Given the description of an element on the screen output the (x, y) to click on. 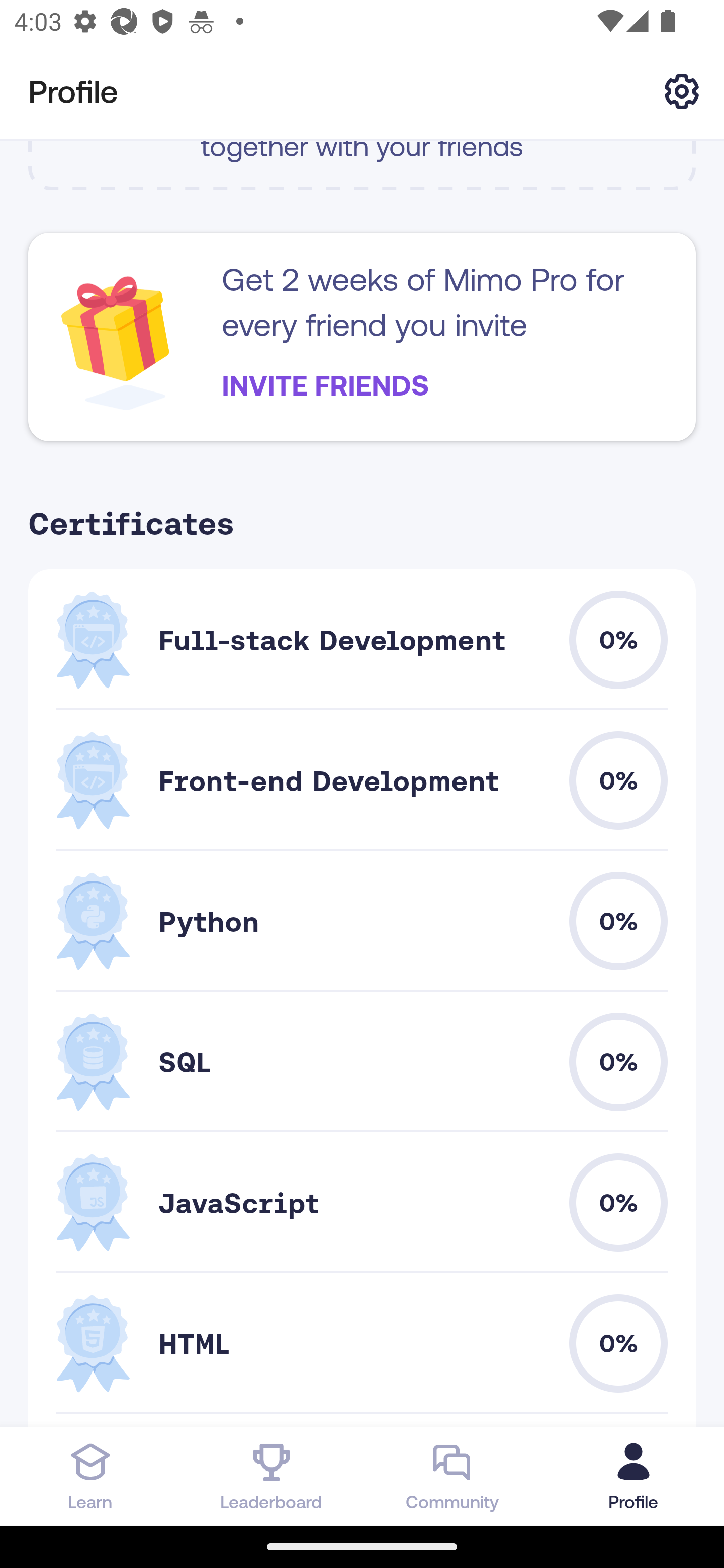
Settings (681, 90)
INVITE FRIENDS (325, 384)
Full-stack Development 0.0 0% (361, 639)
Front-end Development 0.0 0% (361, 780)
Python 0.0 0% (361, 920)
SQL 0.0 0% (361, 1061)
JavaScript 0.0 0% (361, 1202)
HTML 0.0 0% (361, 1343)
Learn (90, 1475)
Leaderboard (271, 1475)
Community (452, 1475)
